Given the description of an element on the screen output the (x, y) to click on. 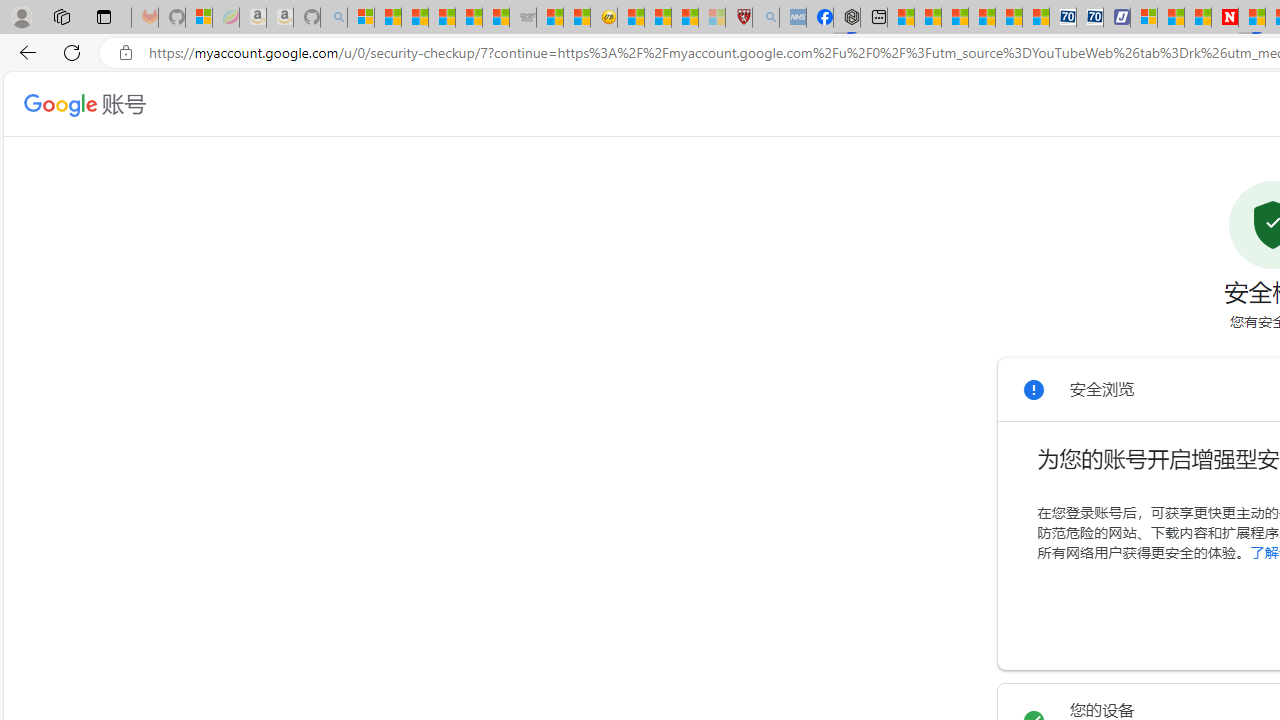
Newsweek - News, Analysis, Politics, Business, Technology (1224, 17)
